Given the description of an element on the screen output the (x, y) to click on. 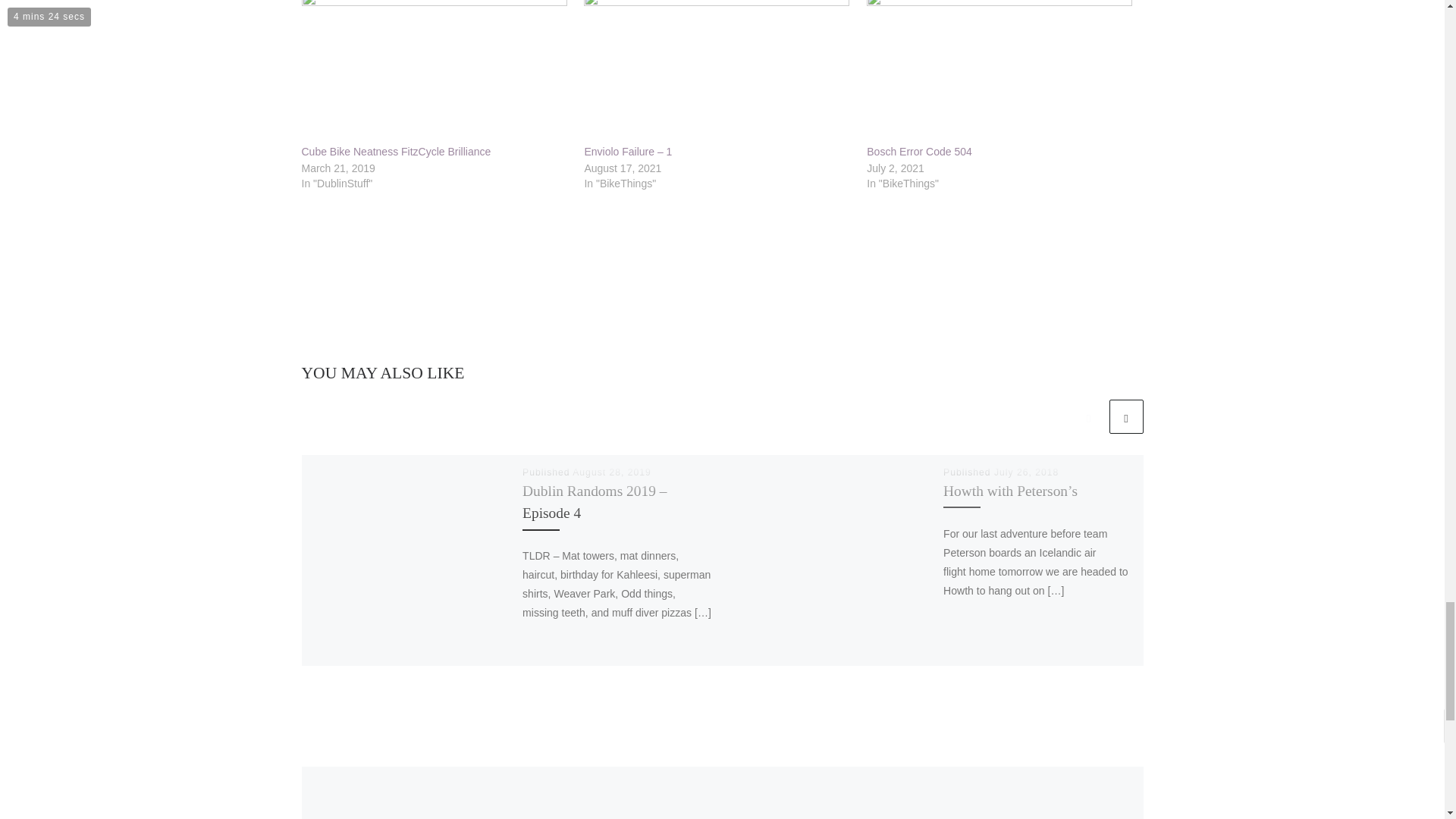
August 28, 2019 (611, 471)
Bosch Error Code 504 (1000, 71)
July 26, 2018 (1026, 471)
Previous related articles (1088, 416)
Cube Bike Neatness FitzCycle Brilliance (396, 151)
Bosch Error Code 504 (919, 151)
Bosch Error Code 504 (919, 151)
Cube Bike Neatness FitzCycle Brilliance (435, 71)
Cube Bike Neatness FitzCycle Brilliance (396, 151)
